Given the description of an element on the screen output the (x, y) to click on. 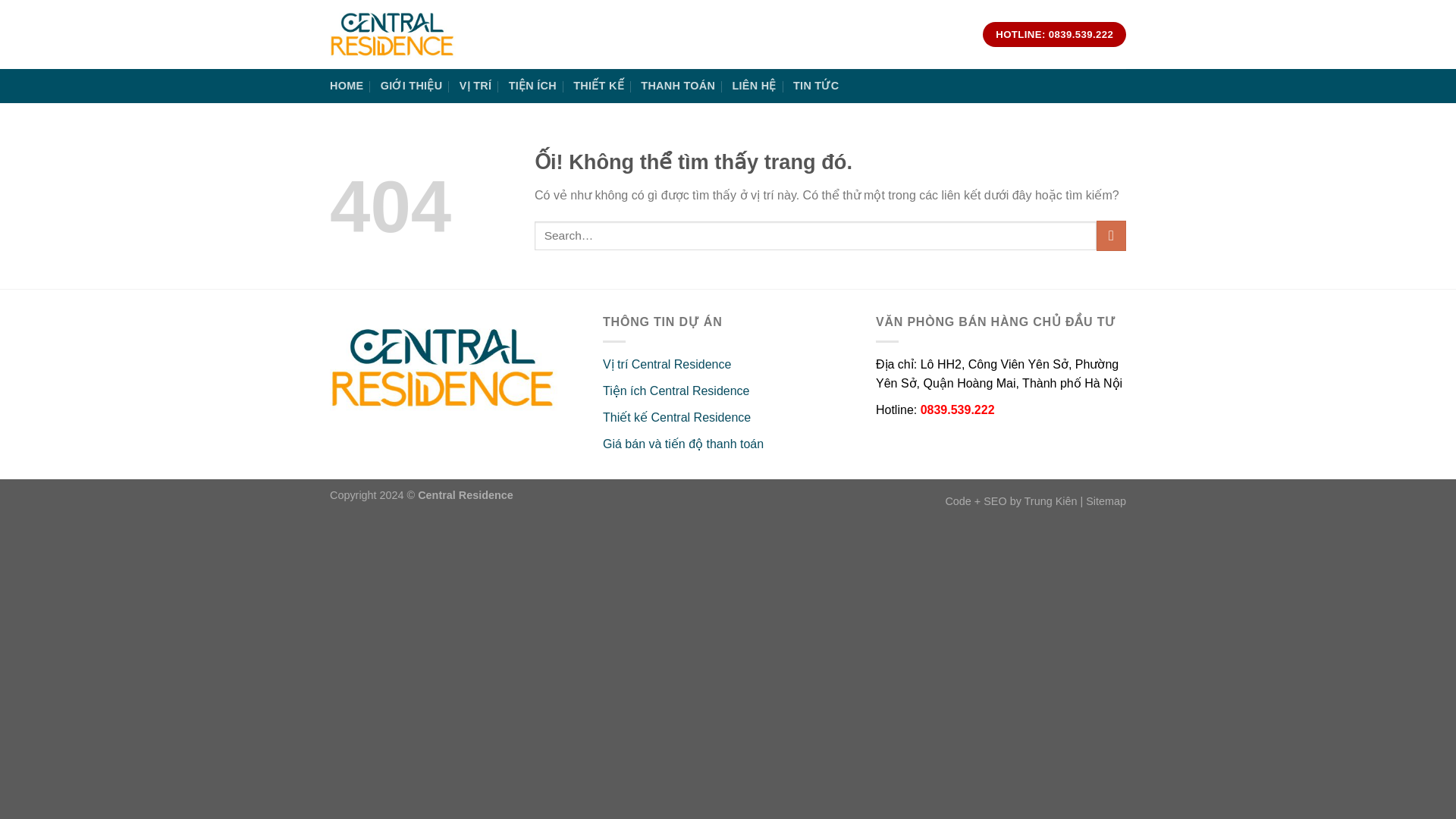
Sitemap (1105, 500)
0839.539.222 (957, 409)
HOTLINE: 0839.539.222 (1053, 34)
HOME (346, 85)
Central Residence (465, 494)
